Given the description of an element on the screen output the (x, y) to click on. 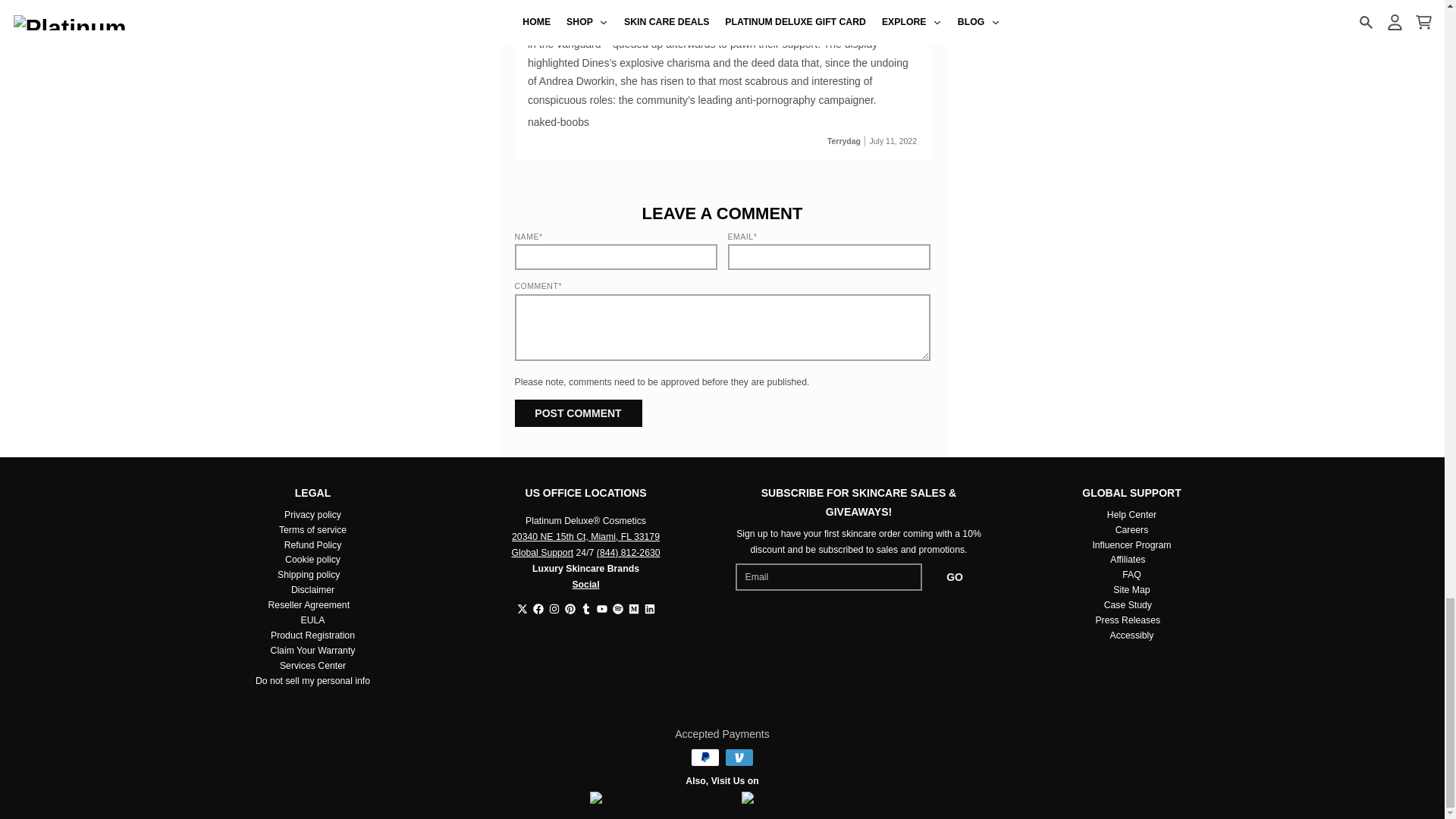
LinkedIn - Platinum Deluxe Cosmetics (650, 608)
Facebook - Platinum Deluxe Cosmetics (537, 608)
Post comment (577, 412)
Pinterest - Platinum Deluxe Cosmetics (569, 608)
Spotify - Platinum Deluxe Cosmetics (617, 608)
Instagram - Platinum Deluxe Cosmetics (553, 608)
YouTube - Platinum Deluxe Cosmetics (601, 608)
Medium - Platinum Deluxe Cosmetics (633, 608)
Tumblr - Platinum Deluxe Cosmetics (585, 608)
Twitter - Platinum Deluxe Cosmetics (521, 608)
